Given the description of an element on the screen output the (x, y) to click on. 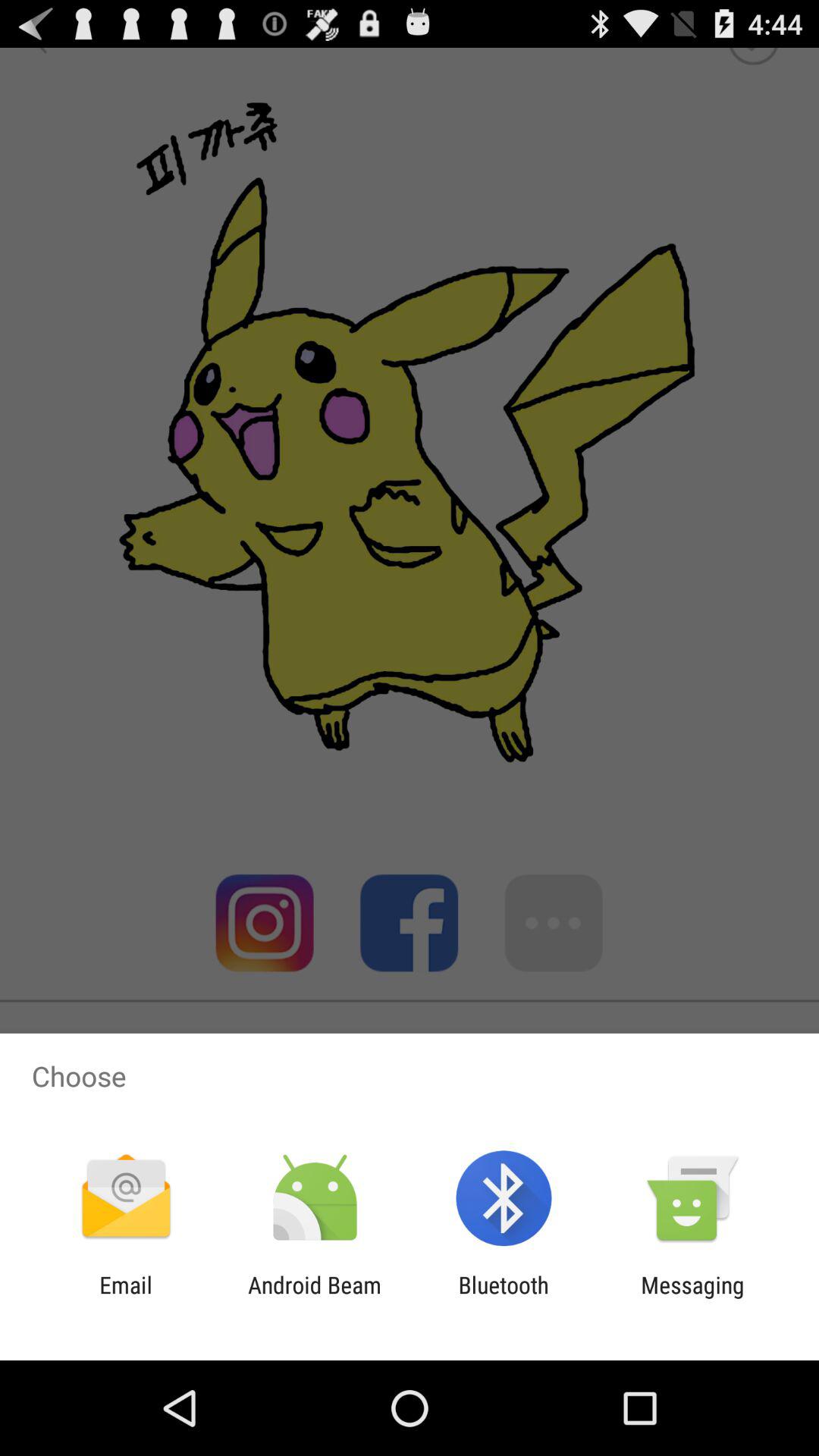
swipe to android beam icon (314, 1298)
